Given the description of an element on the screen output the (x, y) to click on. 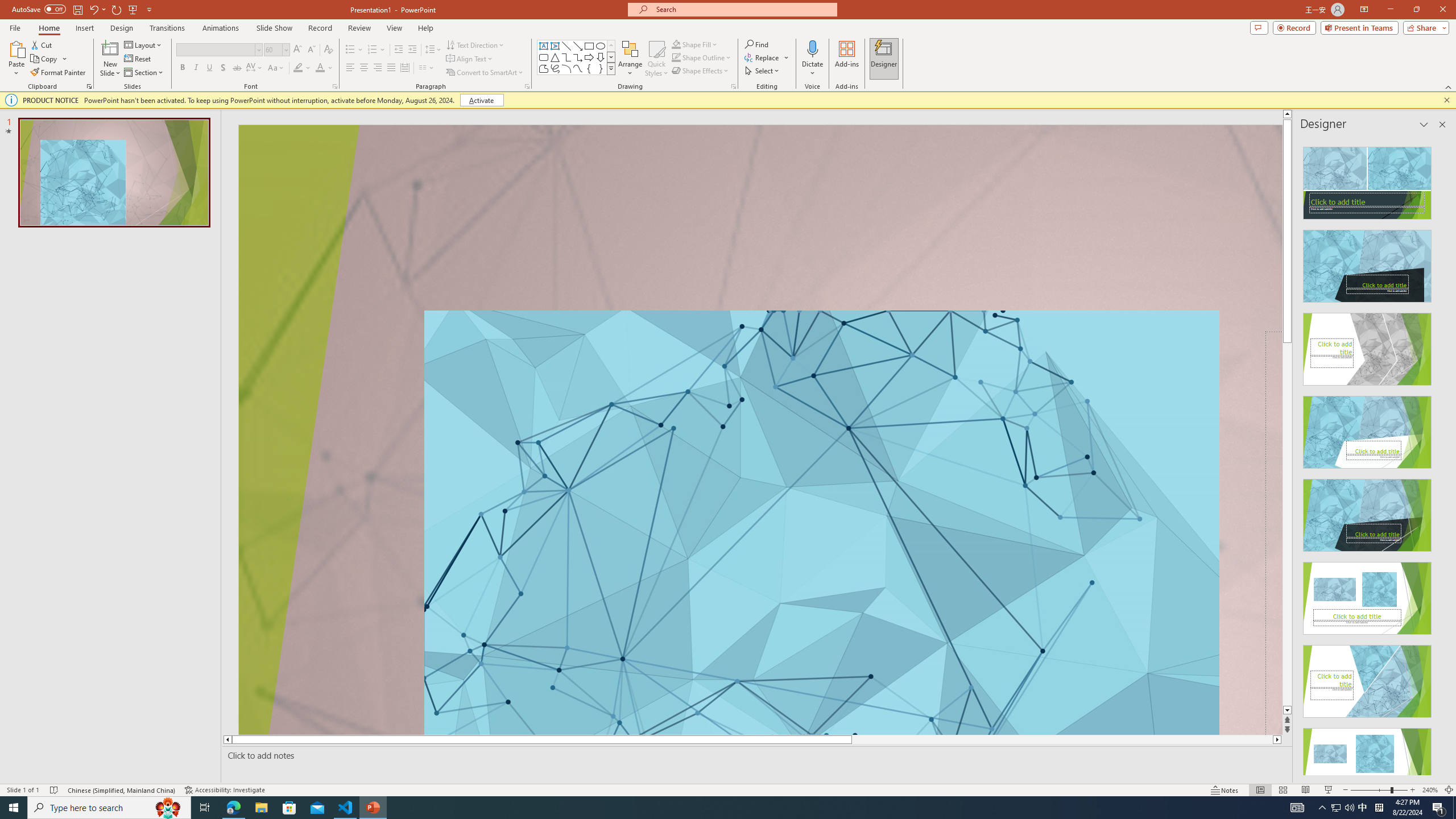
An abstract genetic concept (760, 429)
